Given the description of an element on the screen output the (x, y) to click on. 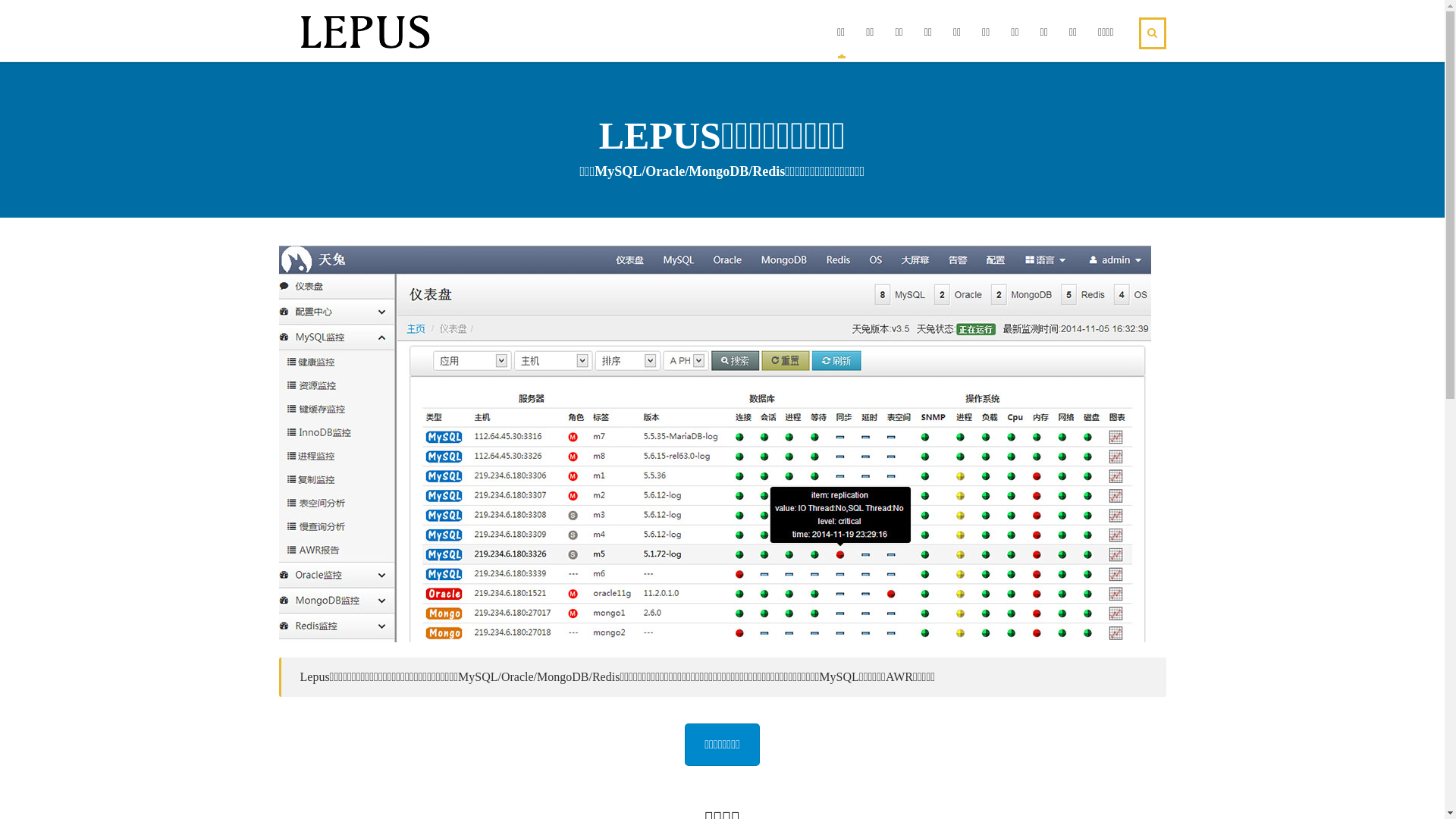
lepus.cc Element type: text (482, 784)
ruyi@139.com Element type: text (1019, 645)
